Given the description of an element on the screen output the (x, y) to click on. 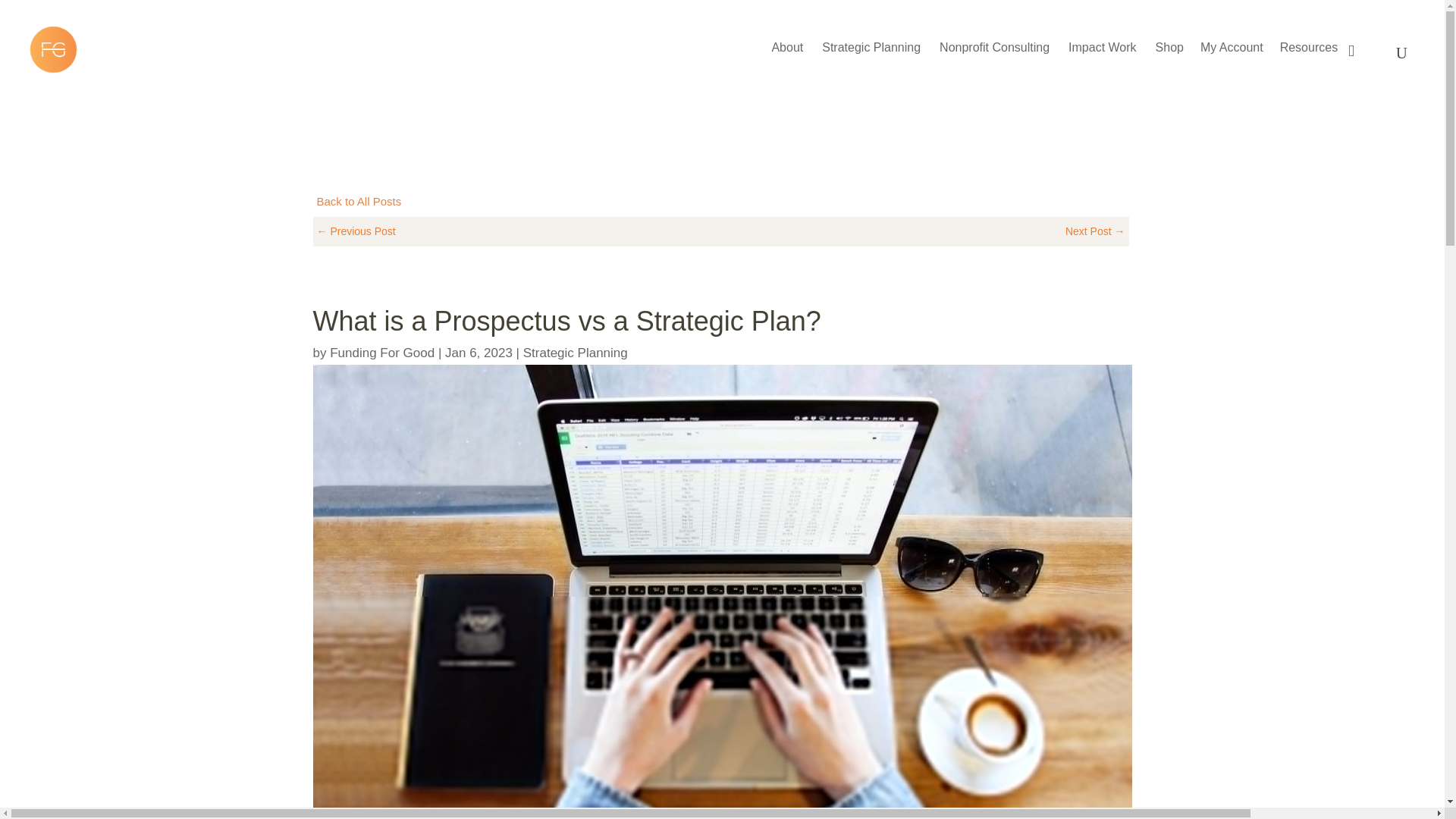
Impact Work (1102, 54)
My Account (1231, 54)
Posts by Funding For Good (381, 352)
Nonprofit Consulting (994, 54)
Strategic Planning (871, 54)
Funding For Good (381, 352)
Back to All Posts (359, 201)
About (787, 54)
FFG-Mark-2021 (53, 49)
Shop (1169, 54)
